Given the description of an element on the screen output the (x, y) to click on. 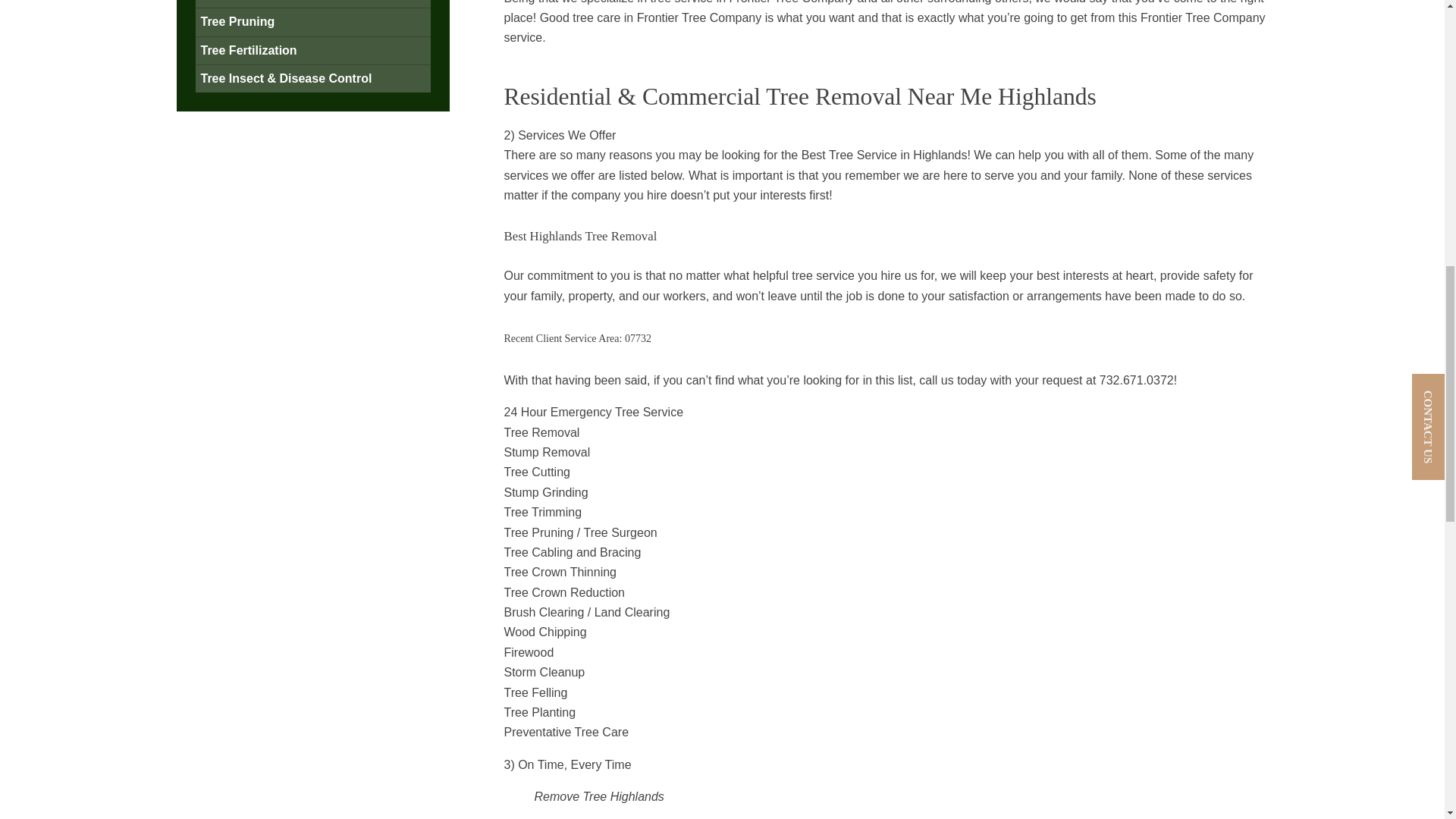
Tree Removal (239, 1)
Tree Fertilization (248, 50)
Tree Pruning (237, 21)
